Given the description of an element on the screen output the (x, y) to click on. 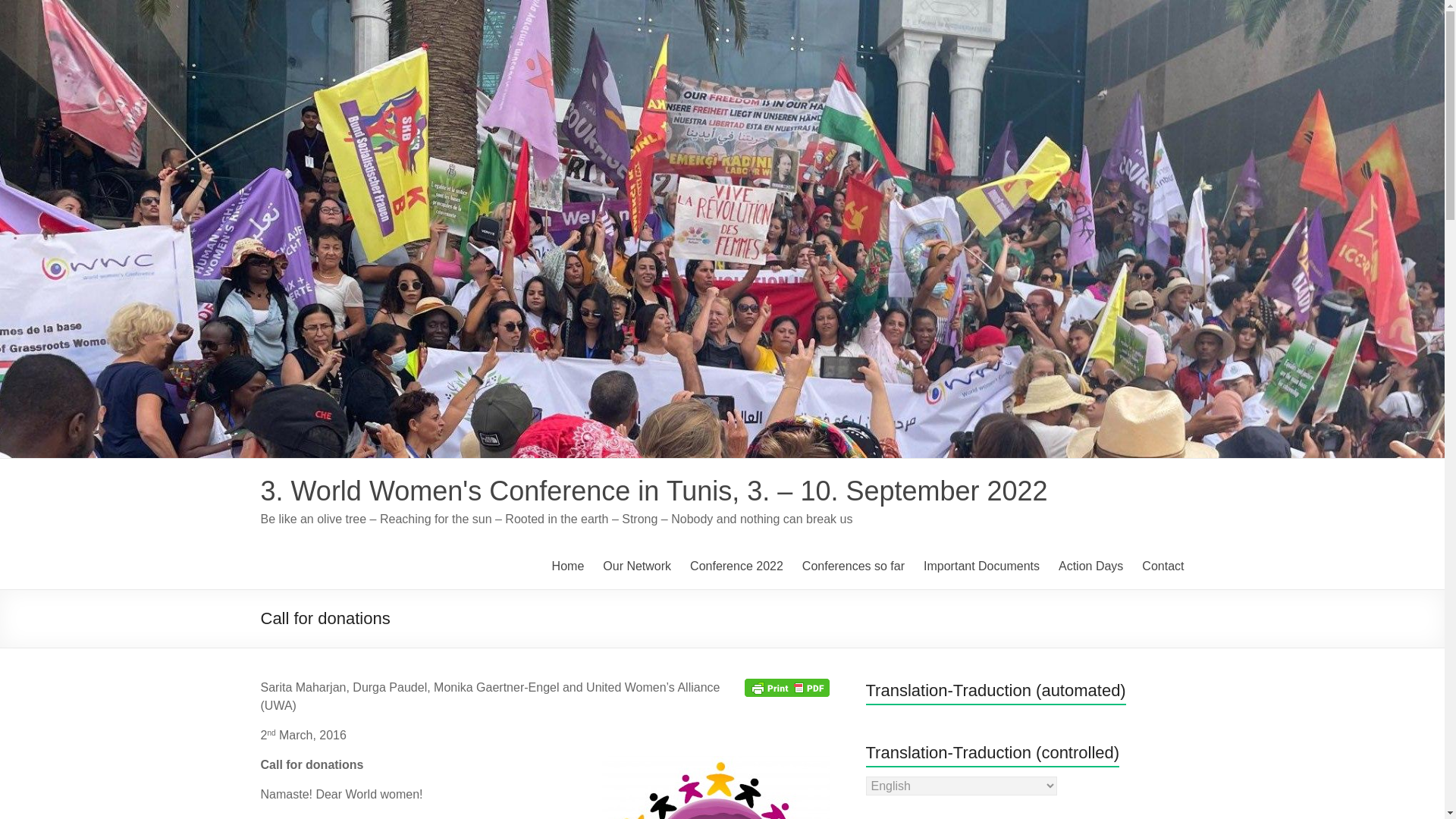
Our Network (636, 566)
Contact (1162, 566)
Conference 2022 (736, 566)
Important Documents (981, 566)
Home (568, 566)
Action Days (1090, 566)
Conferences so far (853, 566)
